Given the description of an element on the screen output the (x, y) to click on. 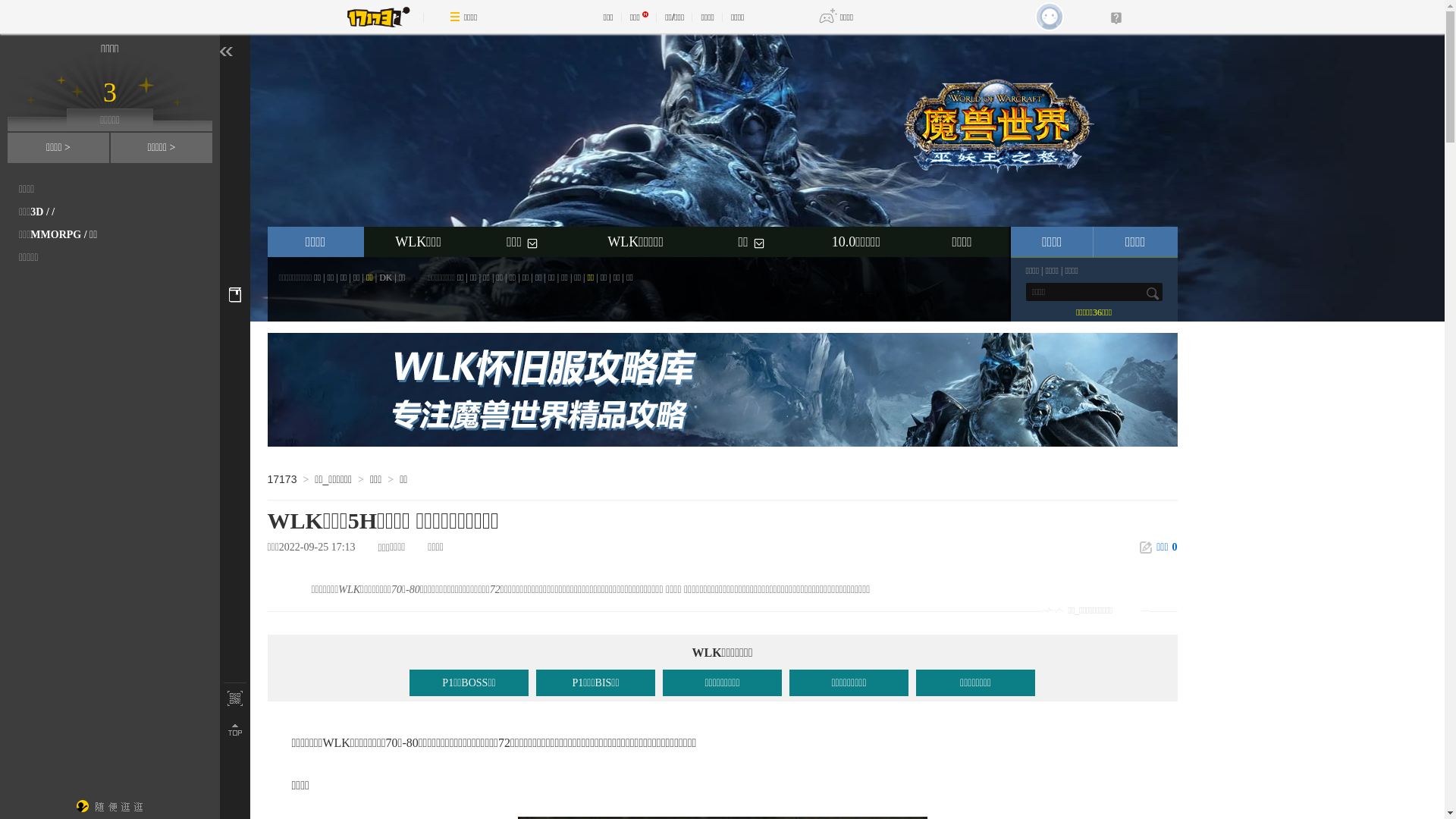
MMORPG Element type: text (55, 234)
17173 Element type: text (281, 479)
3D Element type: text (36, 211)
DK Element type: text (385, 277)
